Given the description of an element on the screen output the (x, y) to click on. 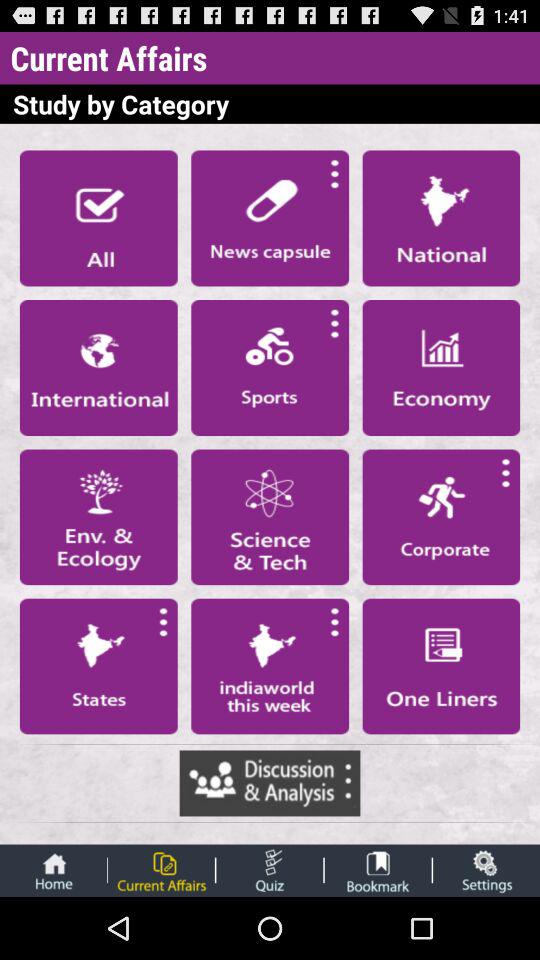
select news capsule category (270, 218)
